Given the description of an element on the screen output the (x, y) to click on. 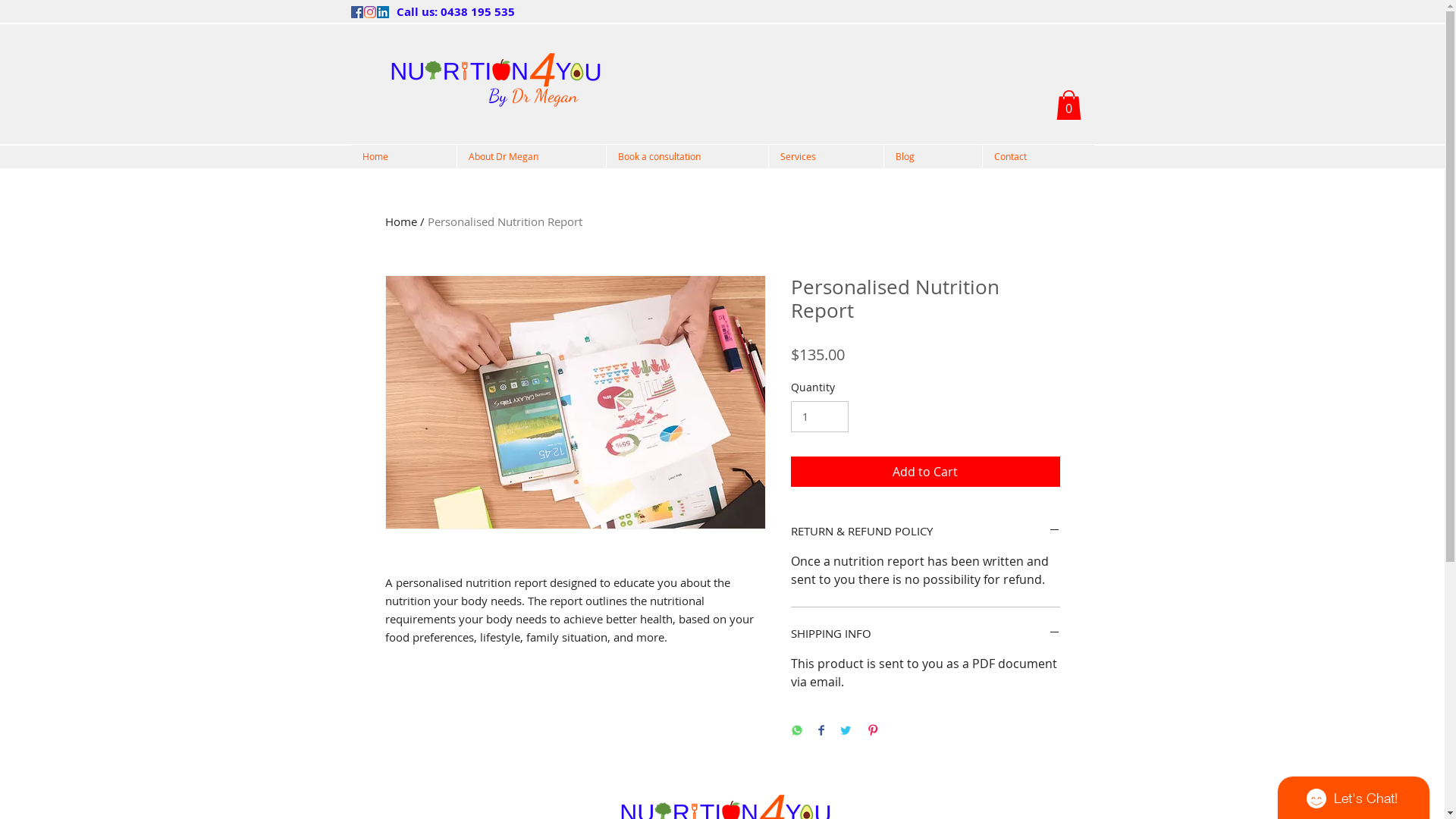
Contact Element type: text (1037, 155)
Blog Element type: text (931, 155)
Personalised Nutrition Report Element type: text (504, 221)
SHIPPING INFO Element type: text (924, 633)
Home Element type: text (402, 155)
Add to Cart Element type: text (924, 471)
RETURN & REFUND POLICY Element type: text (924, 531)
Book a consultation Element type: text (686, 155)
0 Element type: text (1067, 104)
Services Element type: text (824, 155)
Call us: 0438 195 535 Element type: text (454, 10)
Home Element type: text (401, 221)
About Dr Megan Element type: text (530, 155)
